Given the description of an element on the screen output the (x, y) to click on. 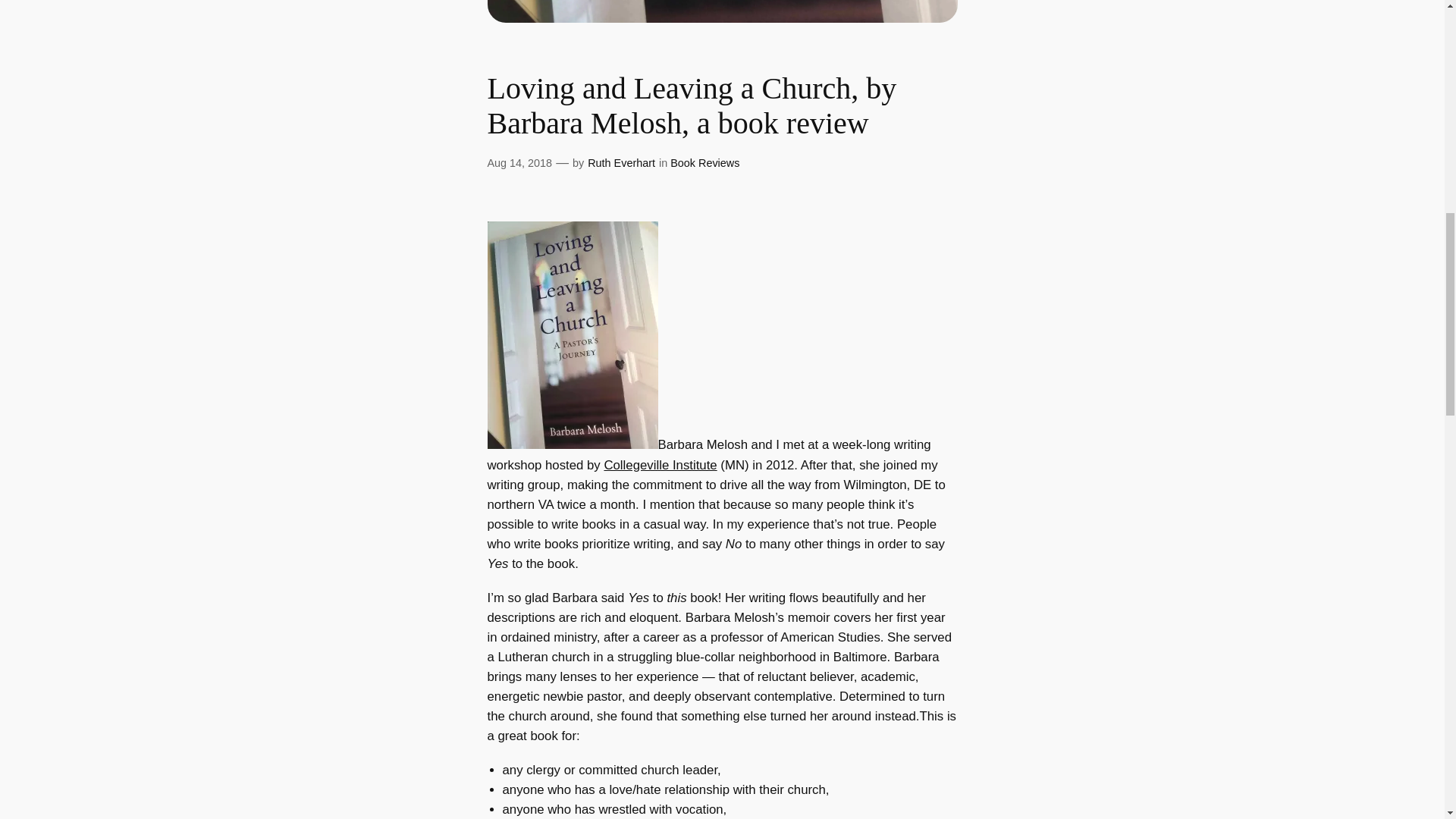
Collegeville Institute (660, 464)
Ruth Everhart (621, 162)
Aug 14, 2018 (518, 162)
Book Reviews (704, 162)
